Given the description of an element on the screen output the (x, y) to click on. 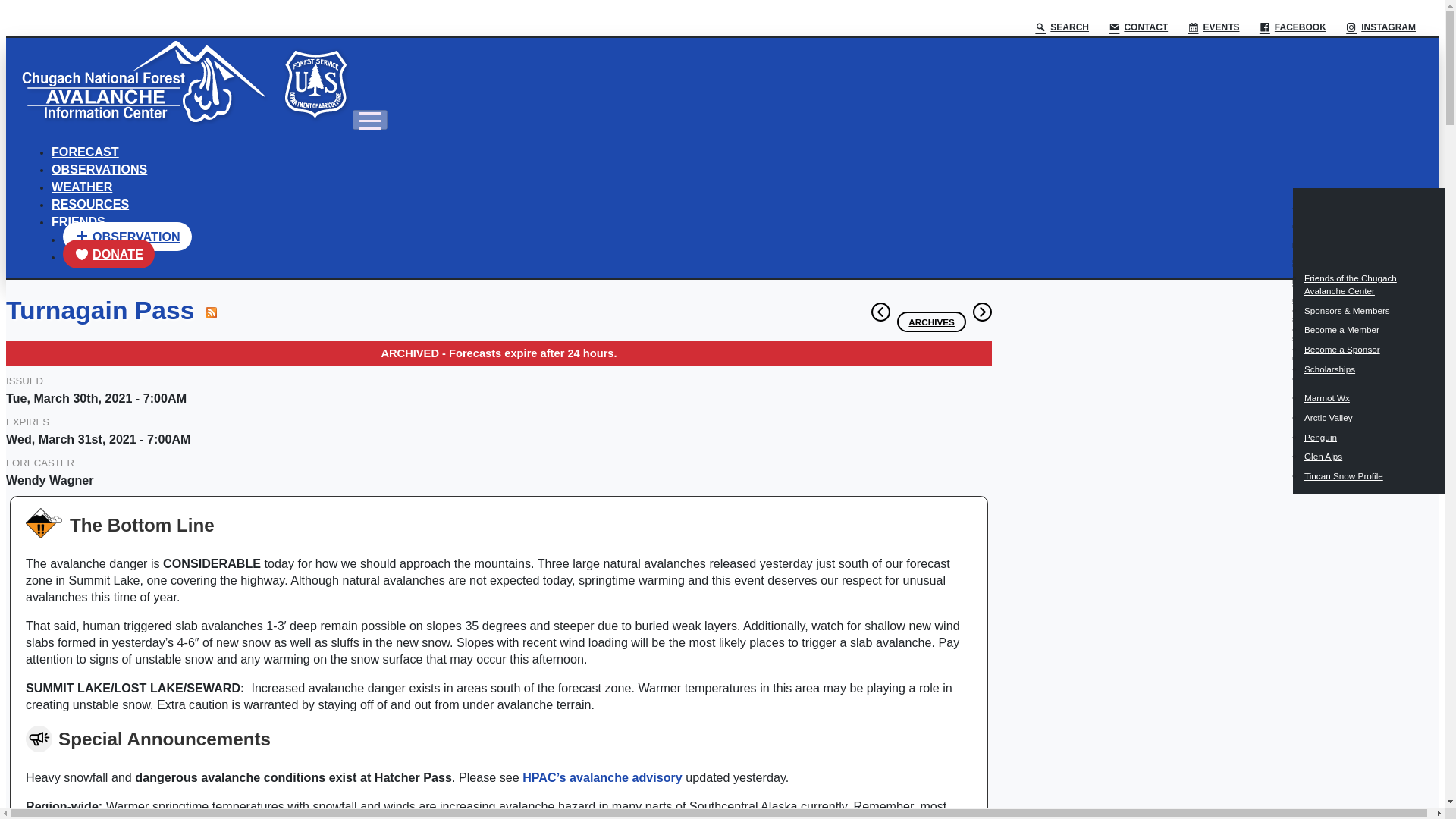
WEATHER (81, 186)
RESOURCES (89, 203)
EVENTS (1213, 27)
INSTAGRAM (1379, 27)
CONTACT (1136, 27)
SEARCH (1060, 27)
Weather (81, 186)
Forecast (84, 151)
FORECAST (84, 151)
Observations (98, 169)
FACEBOOK (1291, 27)
OBSERVATIONS (98, 169)
